Given the description of an element on the screen output the (x, y) to click on. 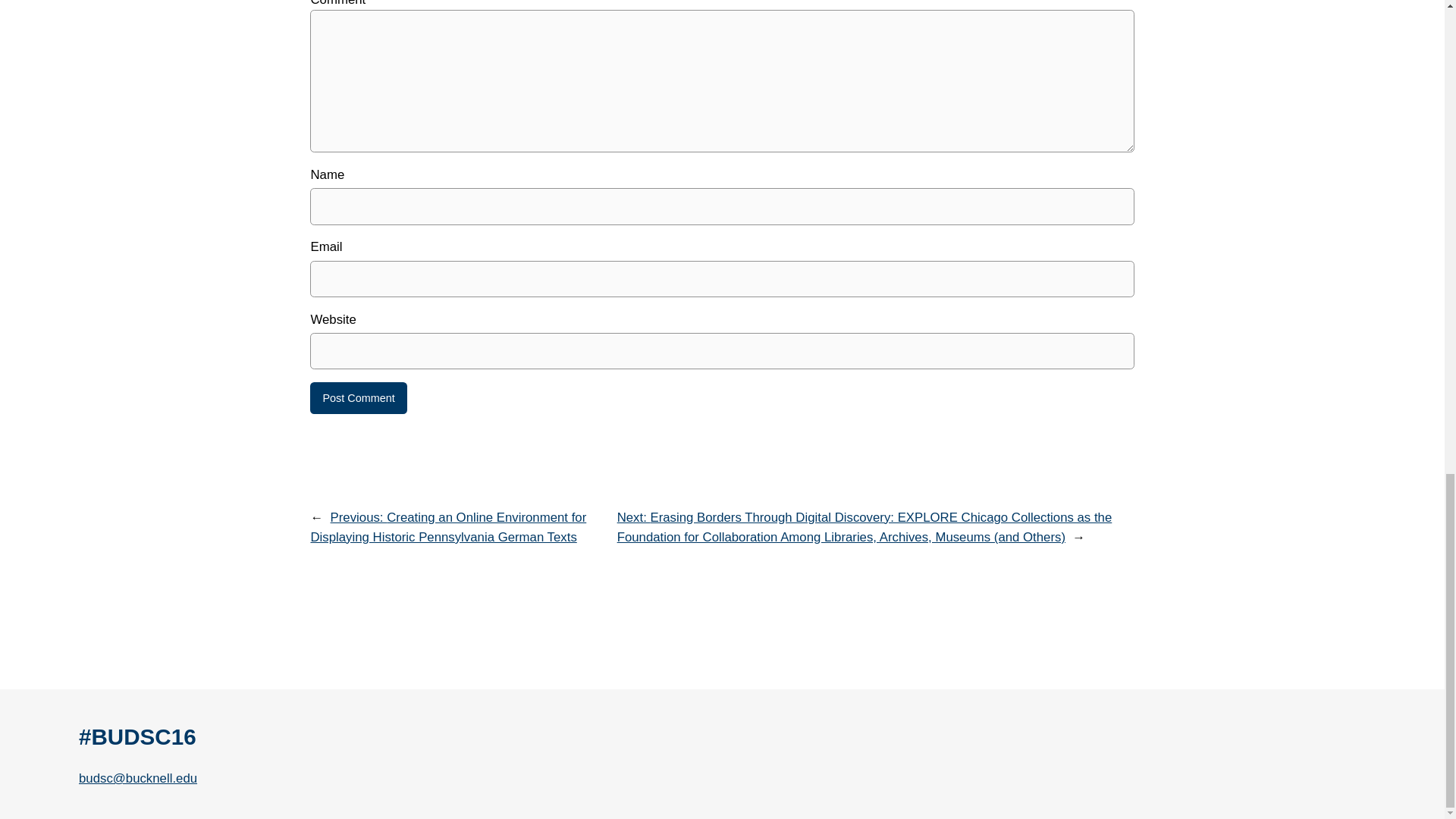
Post Comment (358, 398)
Post Comment (358, 398)
